Given the description of an element on the screen output the (x, y) to click on. 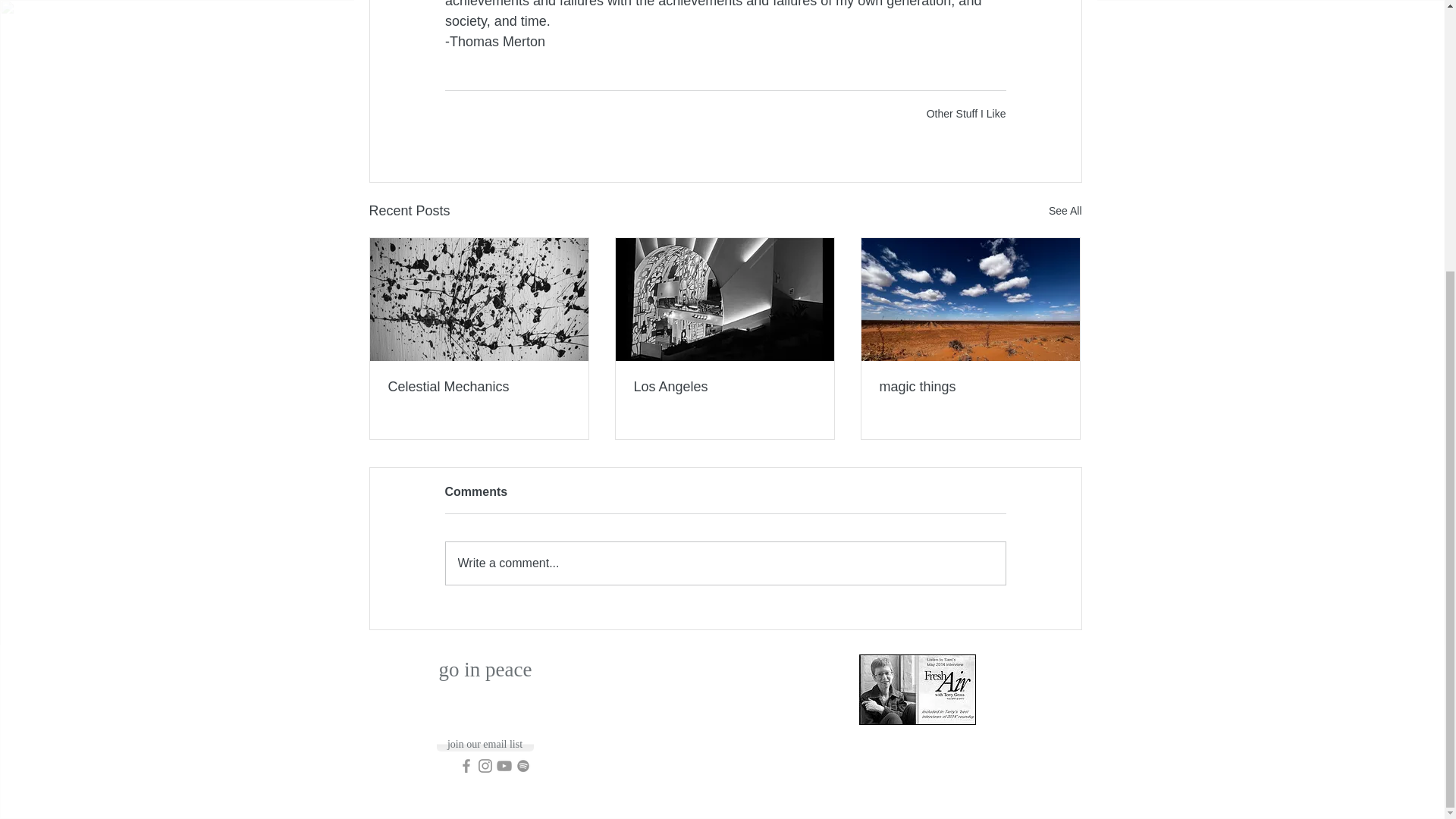
Other Stuff I Like (966, 113)
Celestial Mechanics (479, 386)
Los Angeles (724, 386)
Write a comment... (725, 563)
join our email list (485, 744)
See All (1064, 210)
magic things (970, 386)
